Given the description of an element on the screen output the (x, y) to click on. 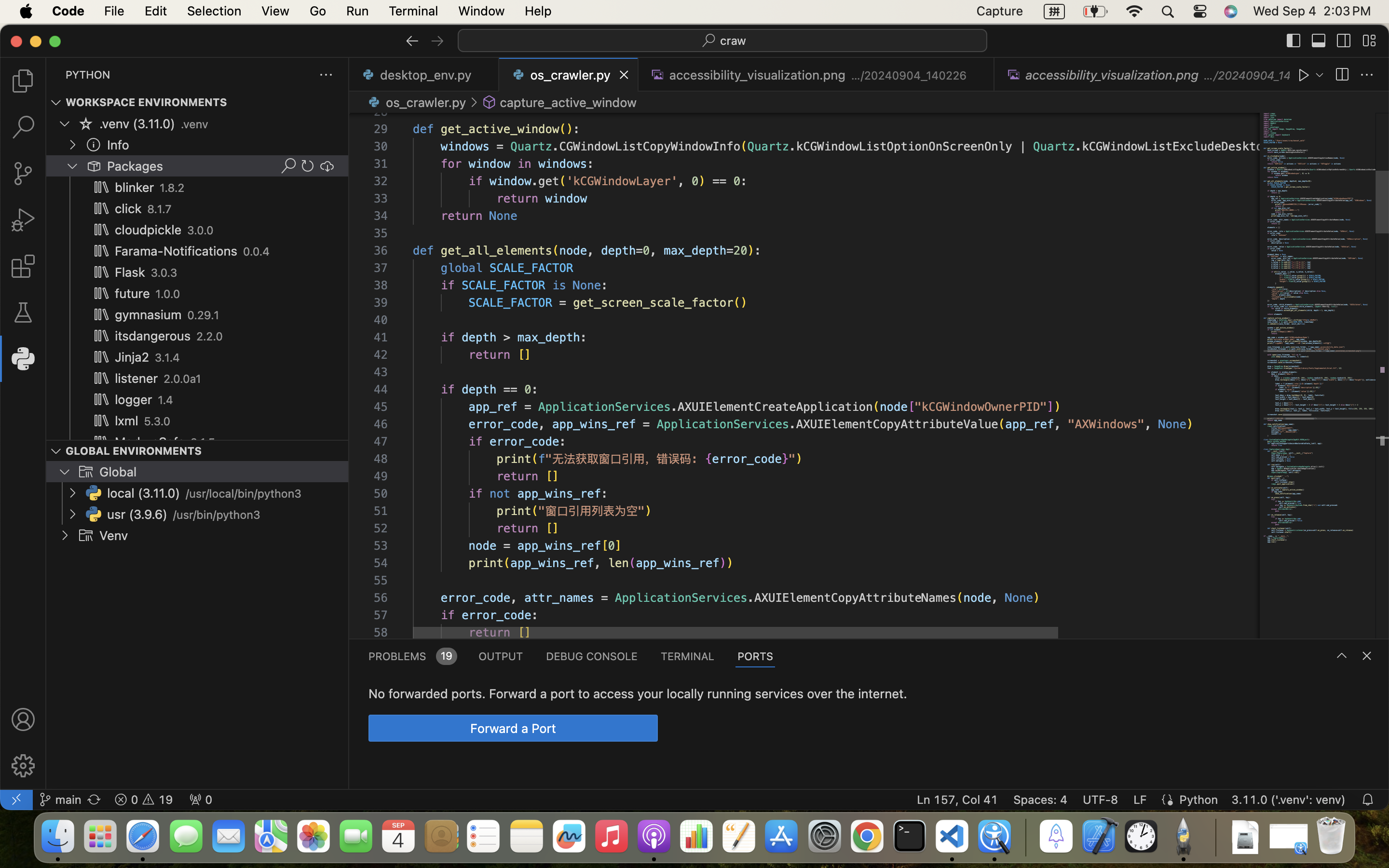
 Element type: AXButton (437, 40)
2.0.0a1 Element type: AXStaticText (182, 378)
8.1.7 Element type: AXStaticText (159, 209)
…/20240904_140044 Element type: AXStaticText (1246, 74)
0.0.4 Element type: AXStaticText (256, 251)
